Given the description of an element on the screen output the (x, y) to click on. 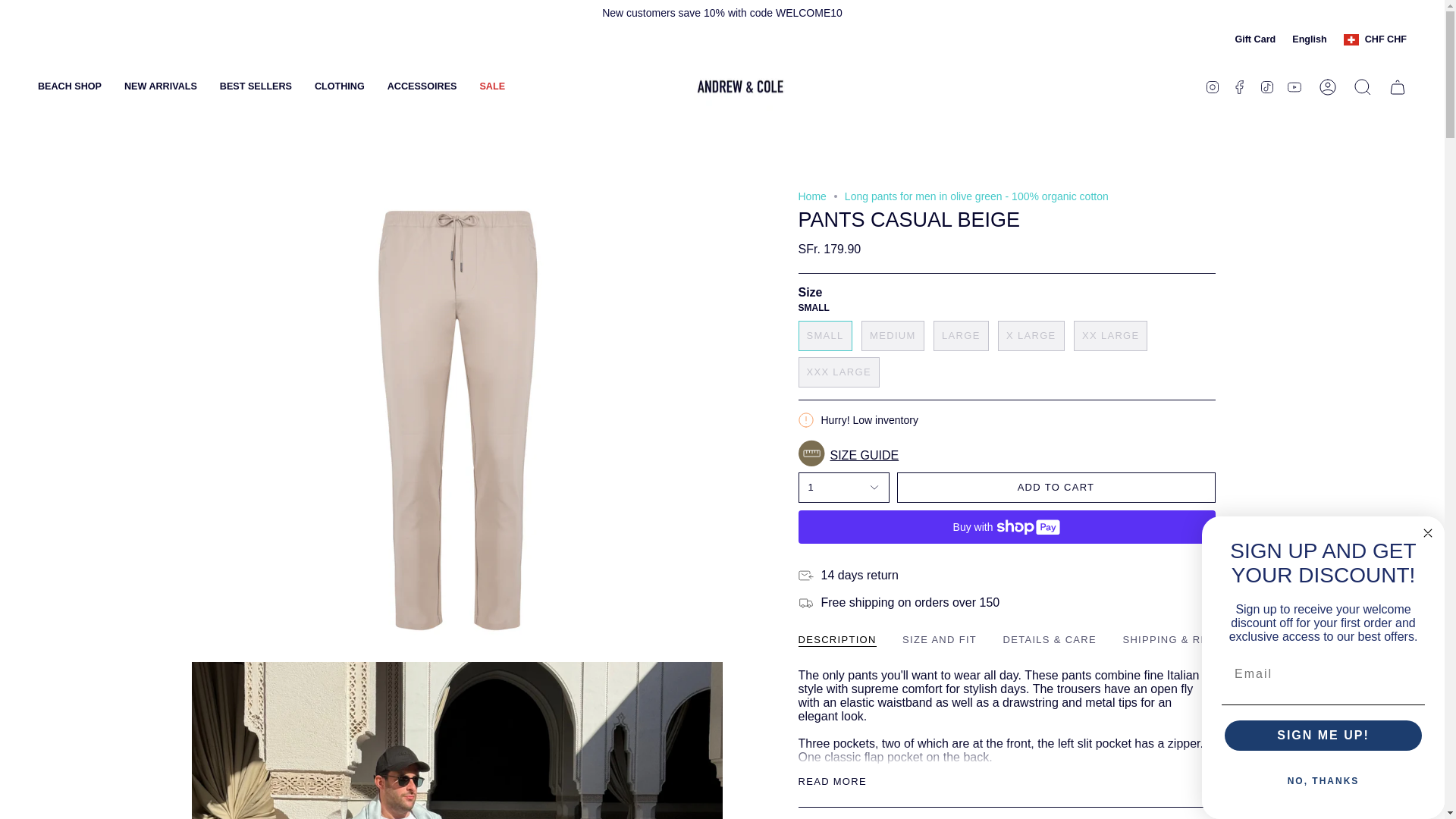
English (1309, 39)
CHF CHF (1375, 39)
Gift Card (1254, 39)
Search (1362, 86)
My Account (1327, 86)
Cart (1397, 86)
